Given the description of an element on the screen output the (x, y) to click on. 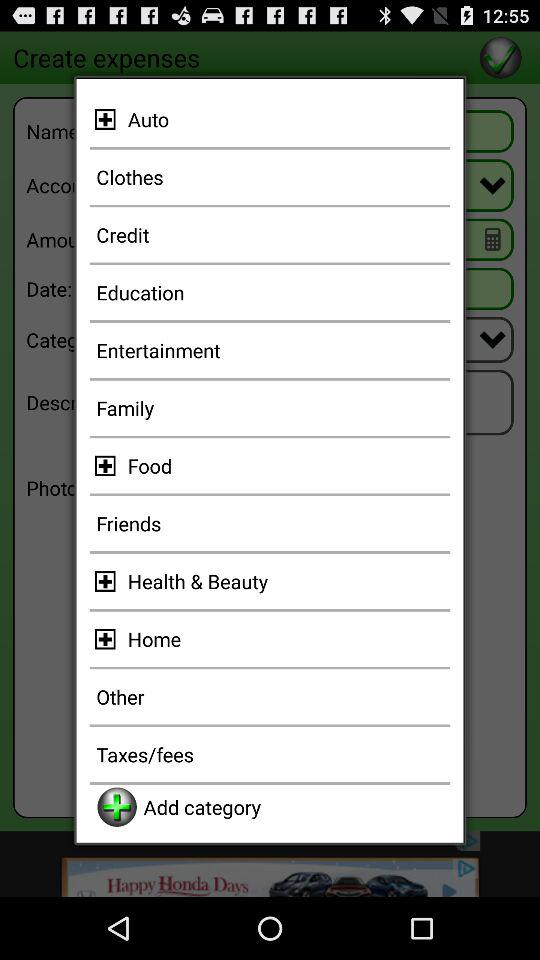
options (108, 581)
